Given the description of an element on the screen output the (x, y) to click on. 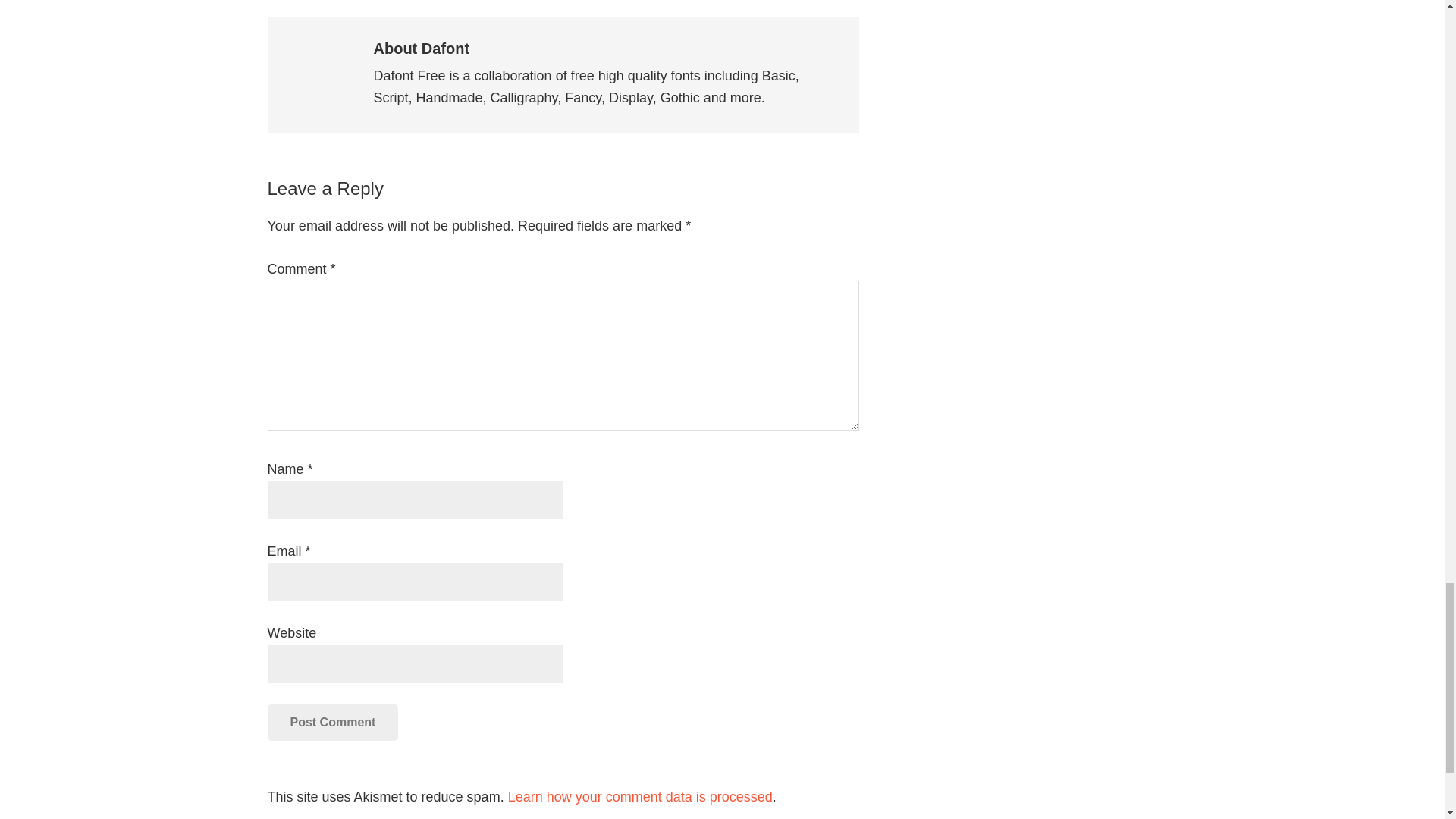
Post Comment (331, 722)
Learn how your comment data is processed (640, 796)
Post Comment (331, 722)
